Given the description of an element on the screen output the (x, y) to click on. 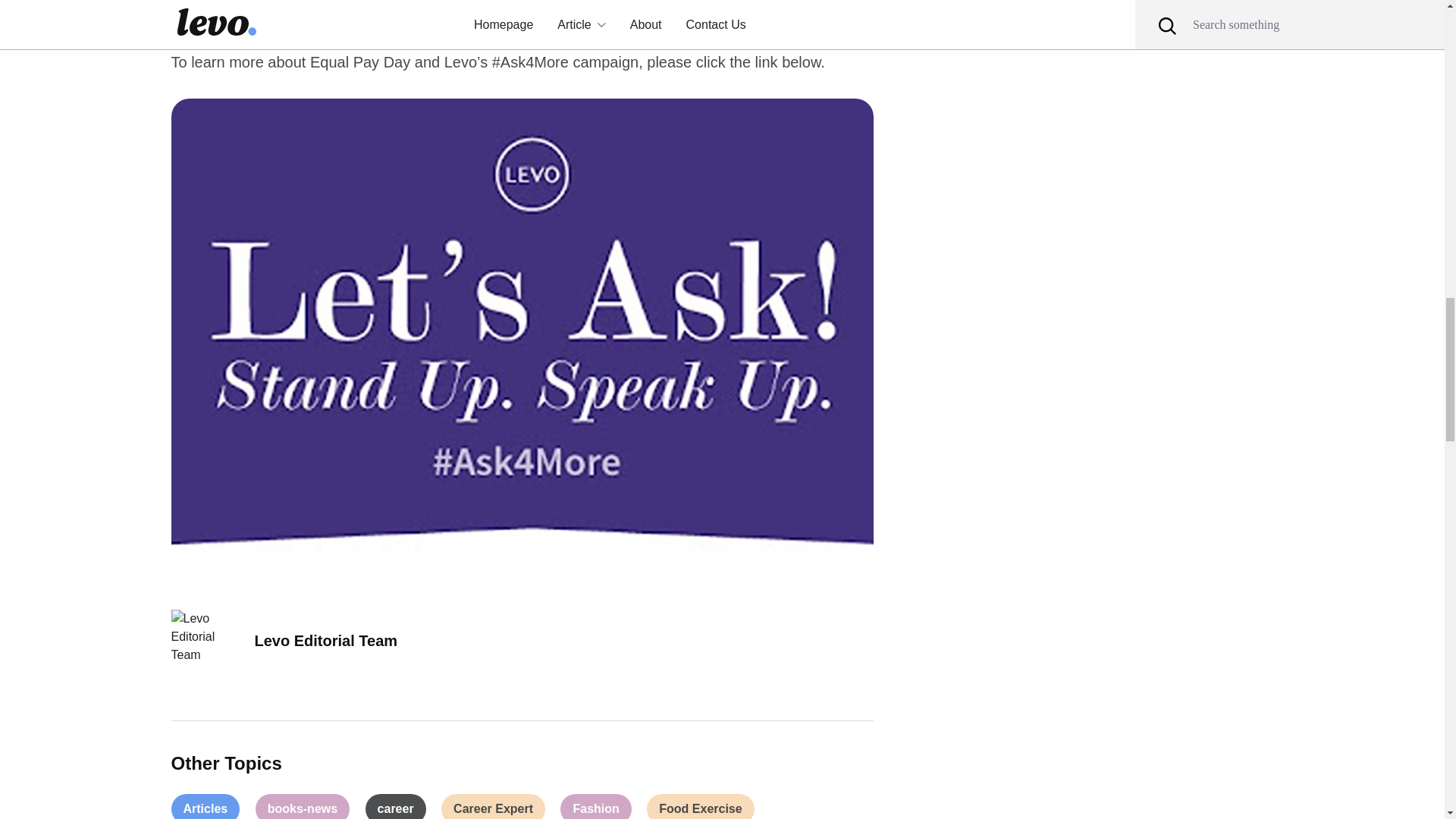
Food Exercise (700, 806)
books-news (302, 806)
Fashion (595, 806)
Levo Editorial Team (325, 640)
career (395, 806)
Career Expert (492, 806)
Articles (205, 806)
